Given the description of an element on the screen output the (x, y) to click on. 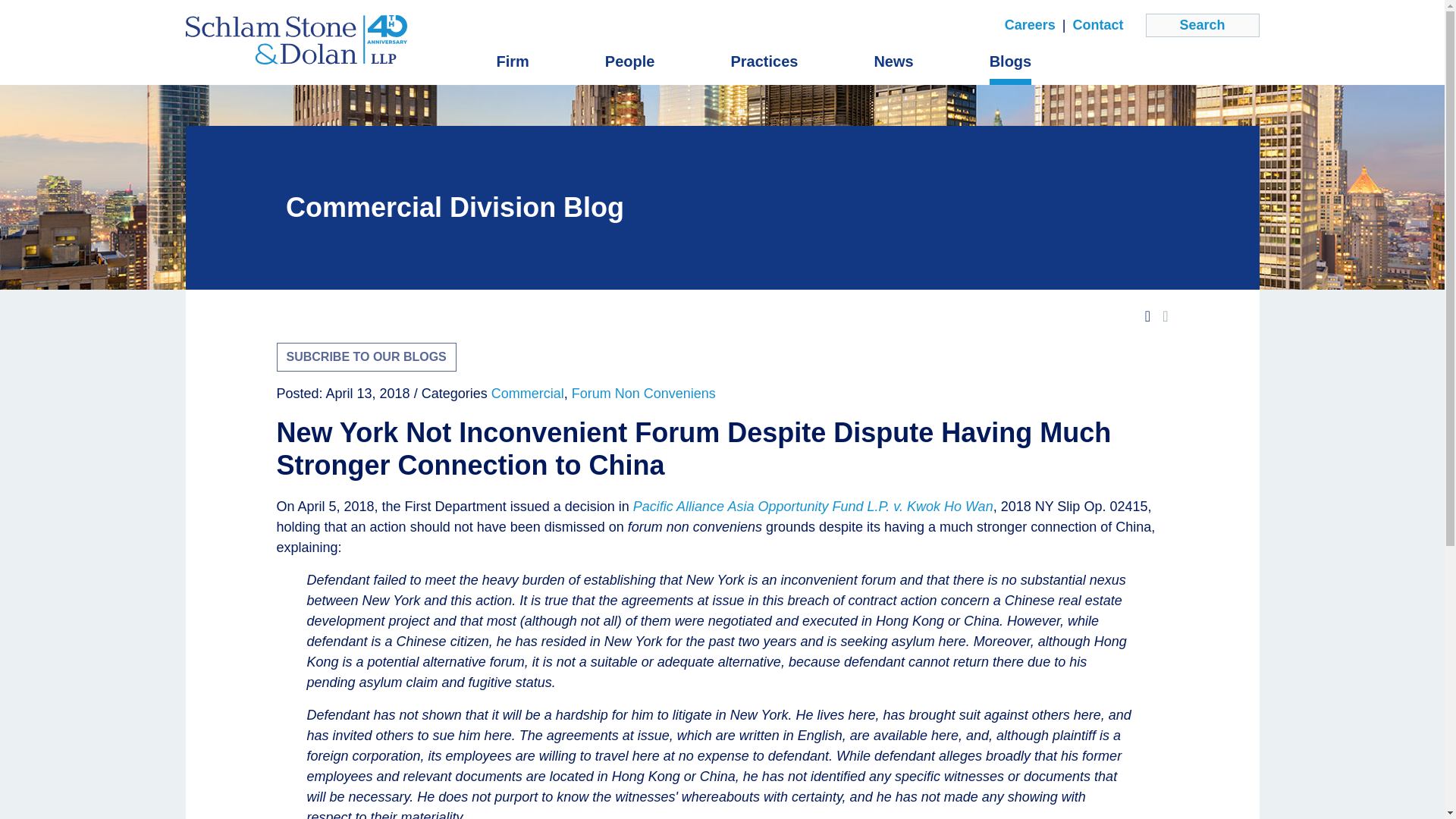
News (892, 60)
Pacific Alliance Asia Opportunity Fund L.P. v. Kwok Ho Wan (812, 506)
Practices (763, 60)
SUBCRIBE TO OUR BLOGS (365, 357)
Commercial (528, 393)
People (630, 60)
Careers (1029, 25)
Firm (512, 60)
Contact (1096, 25)
Forum Non Conveniens (644, 393)
